Given the description of an element on the screen output the (x, y) to click on. 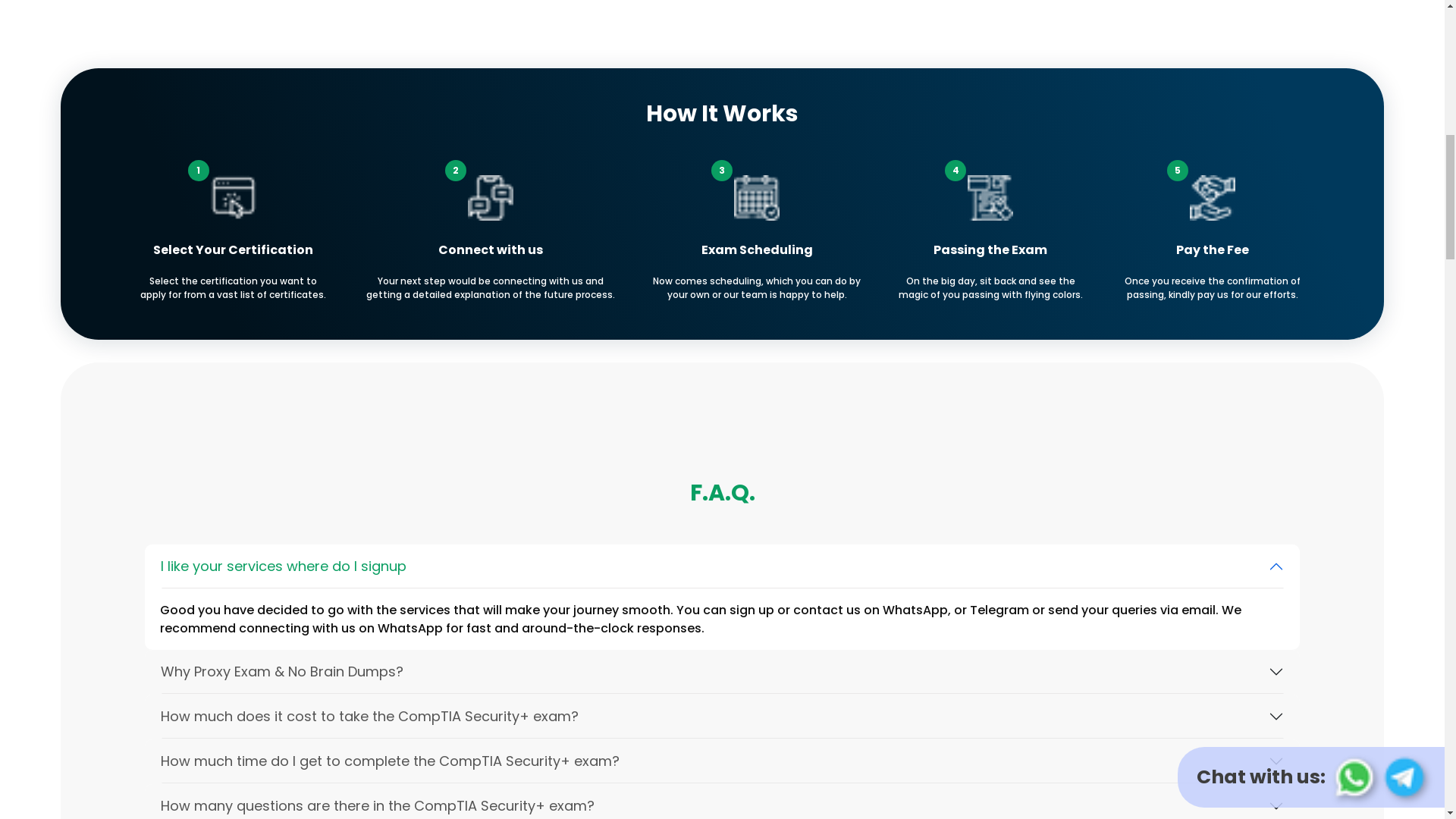
I like your services where do I signup (722, 566)
